Given the description of an element on the screen output the (x, y) to click on. 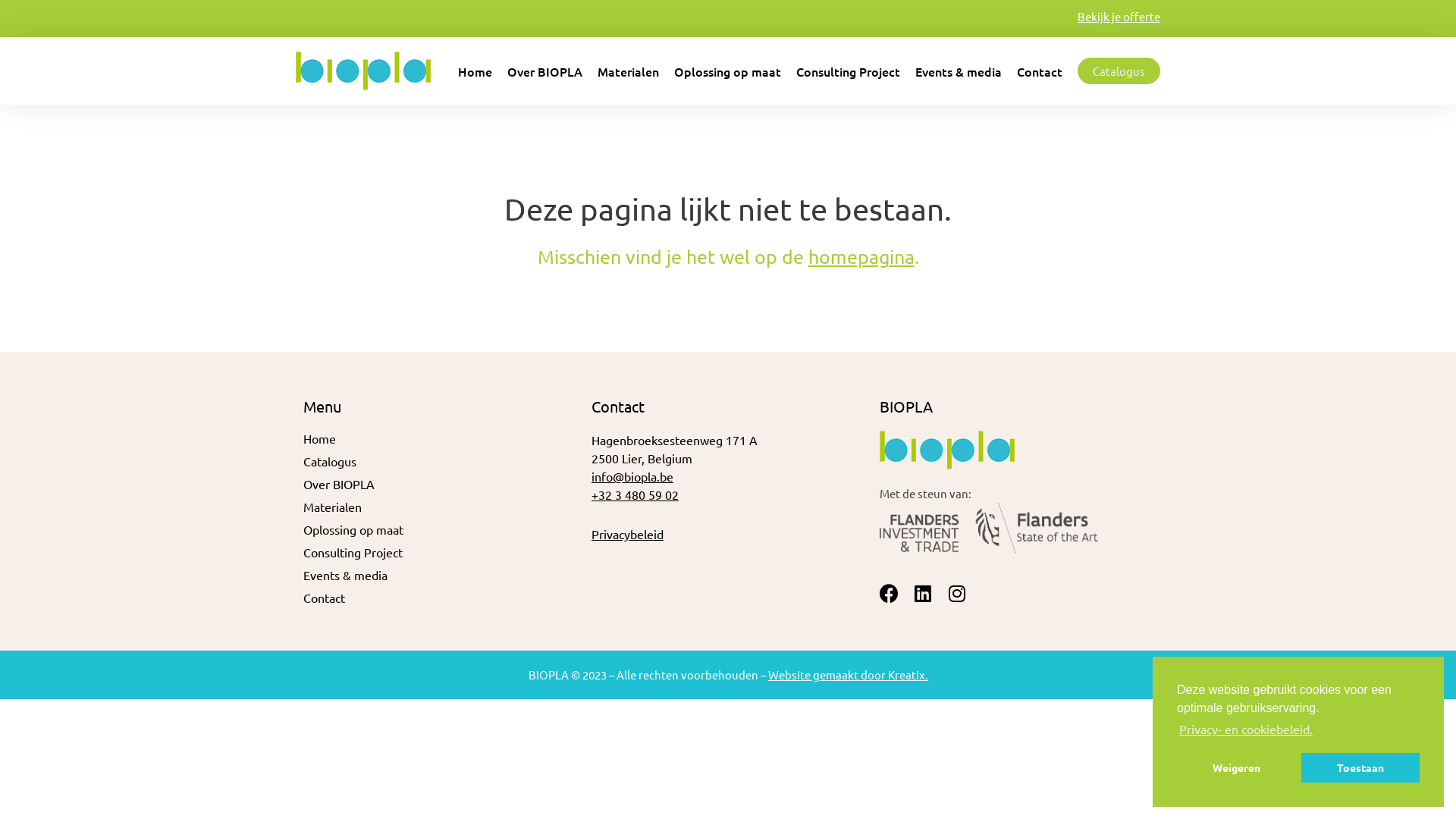
Instagram Element type: text (956, 592)
Over BIOPLA Element type: text (439, 483)
homepagina Element type: text (861, 256)
+32 3 480 59 02 Element type: text (634, 494)
Toestaan Element type: text (1360, 767)
Consulting Project Element type: text (848, 70)
Oplossing op maat Element type: text (727, 70)
Oplossing op maat Element type: text (439, 528)
Contact Element type: text (439, 597)
Home Element type: text (439, 437)
Weigeren Element type: text (1235, 767)
Catalogus Element type: text (439, 460)
Website gemaakt door Kreatix. Element type: text (847, 674)
Home Element type: text (475, 70)
Privacybeleid Element type: text (627, 533)
Facebook Element type: text (888, 592)
Events & media Element type: text (439, 574)
Linkedin Element type: text (922, 592)
Over BIOPLA Element type: text (544, 70)
Contact Element type: text (1039, 70)
Materialen Element type: text (627, 70)
Bekijk je offerte Element type: text (1118, 16)
Consulting Project Element type: text (439, 551)
Privacy- en cookiebeleid. Element type: text (1245, 728)
Catalogus Element type: text (1118, 70)
Materialen Element type: text (439, 506)
info@biopla.be Element type: text (632, 475)
Events & media Element type: text (958, 70)
